Given the description of an element on the screen output the (x, y) to click on. 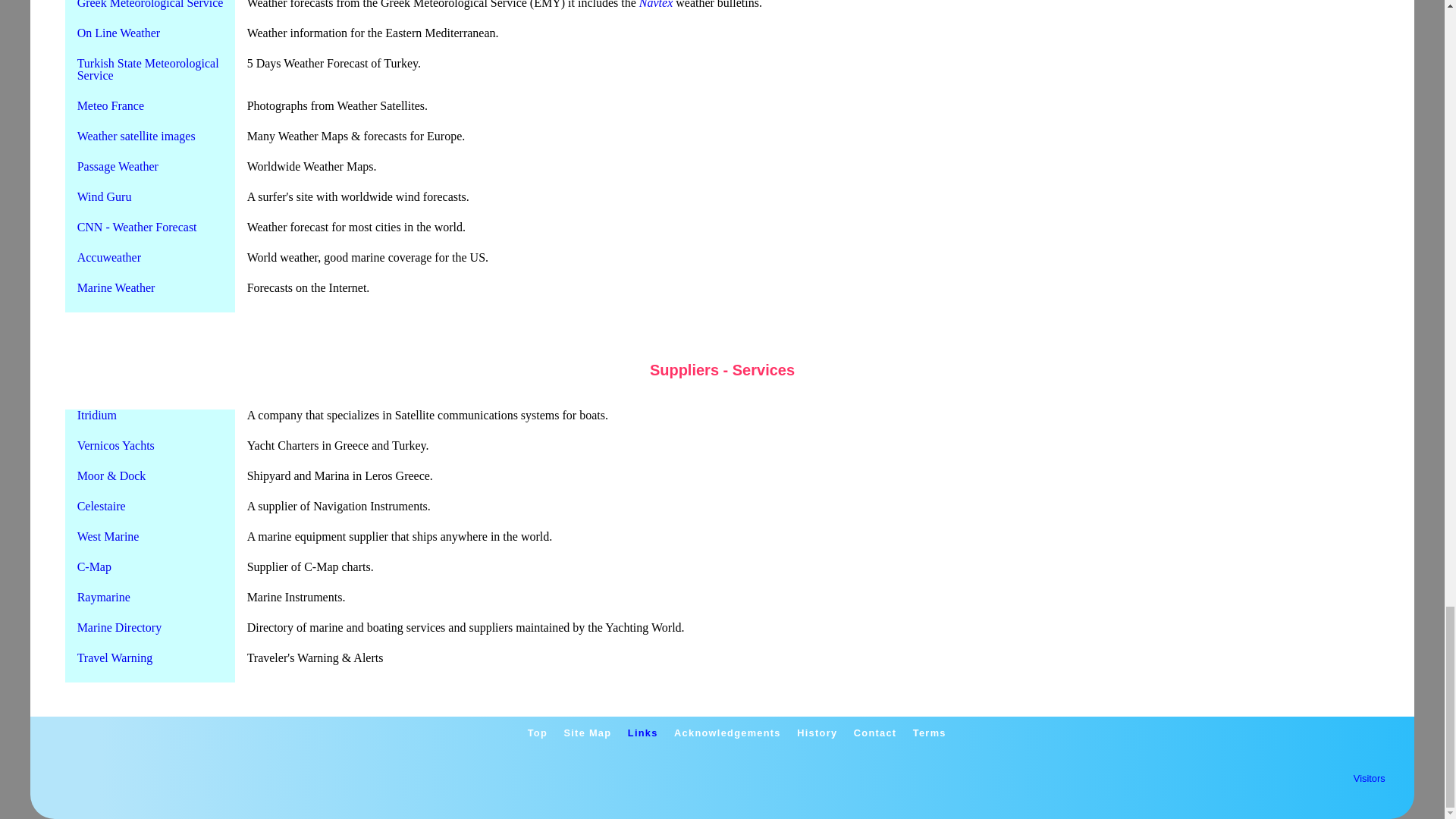
How to contact me (874, 732)
Thanks (727, 732)
Legal Use (929, 732)
Site History (816, 732)
Site Structure (587, 732)
